Given the description of an element on the screen output the (x, y) to click on. 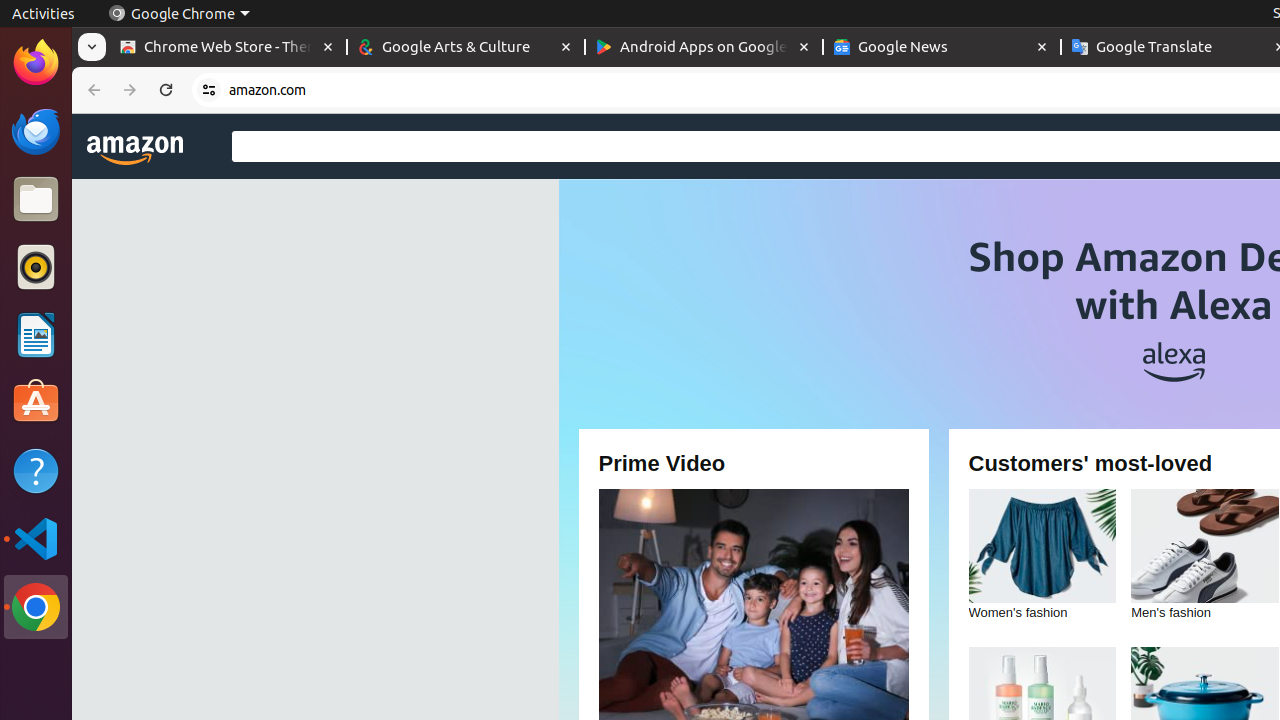
Google Chrome Element type: push-button (36, 607)
Visual Studio Code Element type: push-button (36, 538)
Help Element type: push-button (36, 470)
Reload Element type: push-button (166, 90)
Back Element type: push-button (91, 90)
